Given the description of an element on the screen output the (x, y) to click on. 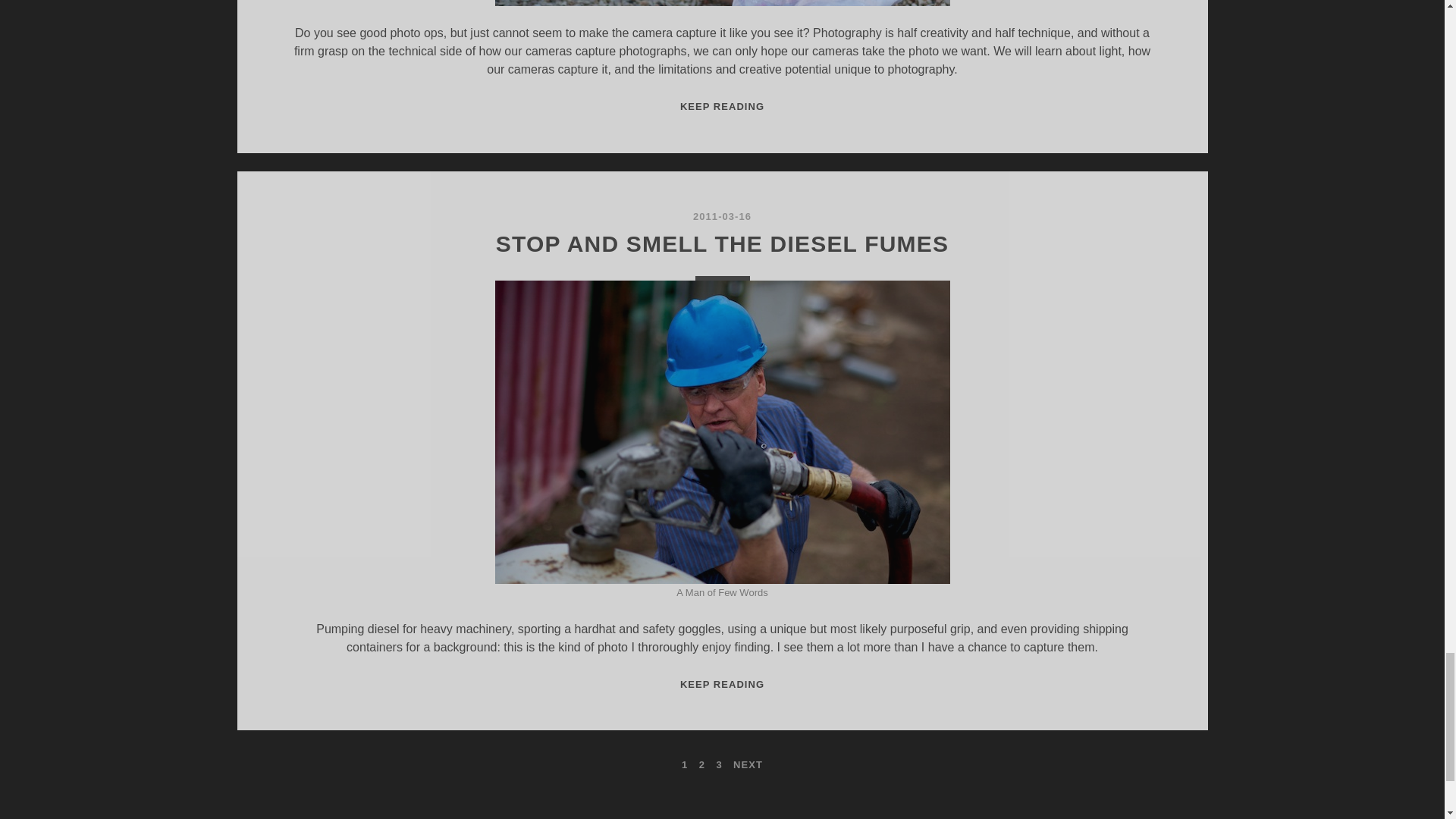
STOP AND SMELL THE DIESEL FUMES (721, 106)
The Other Side of Photography (722, 243)
NEXT (721, 684)
A Man of Few Words (722, 2)
